Given the description of an element on the screen output the (x, y) to click on. 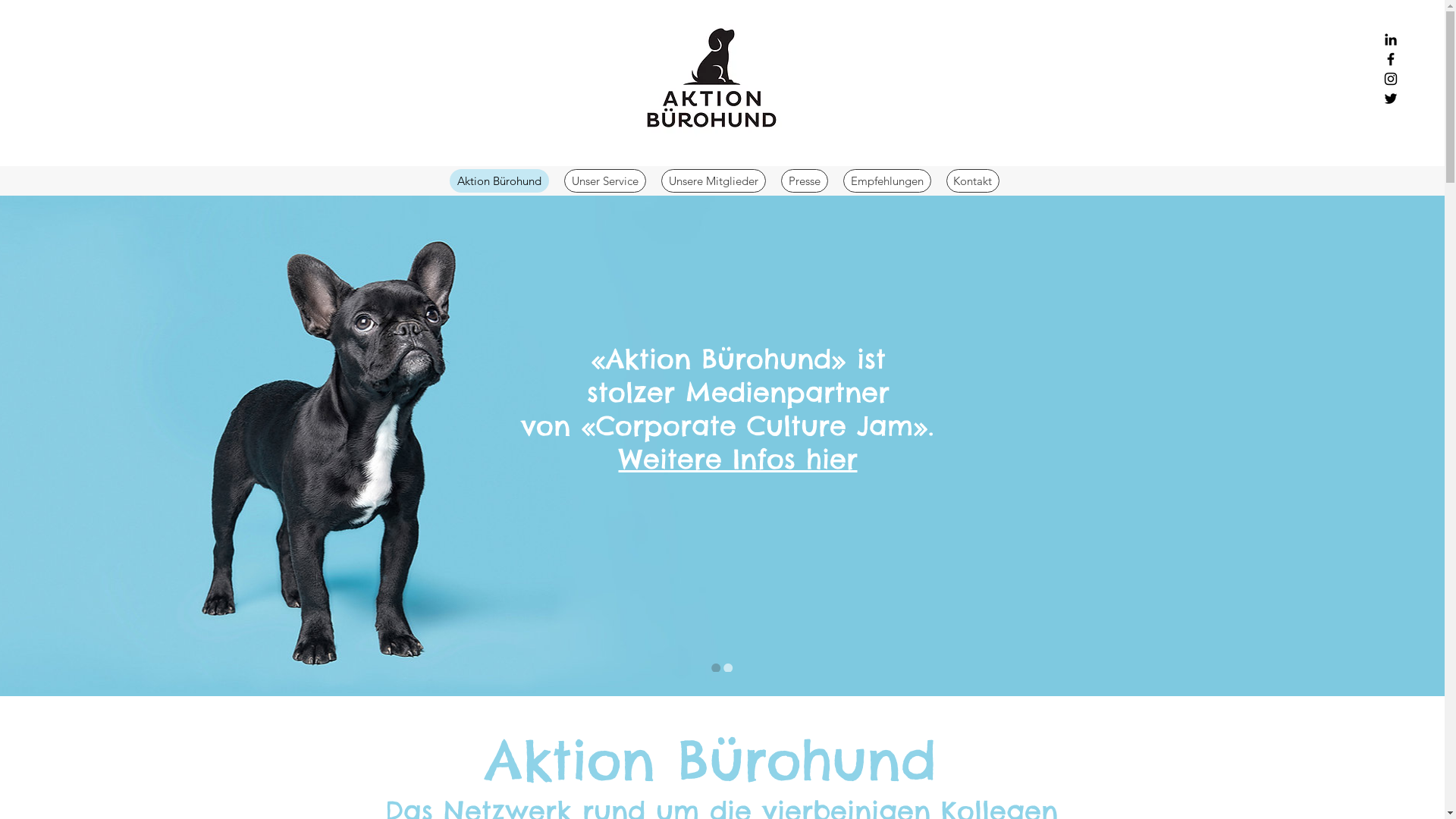
Kontakt Element type: text (972, 180)
Presse Element type: text (804, 180)
Empfehlungen Element type: text (887, 180)
Unsere Mitglieder Element type: text (713, 180)
Unser Service Element type: text (605, 180)
Weitere Infos hier Element type: text (737, 458)
